Given the description of an element on the screen output the (x, y) to click on. 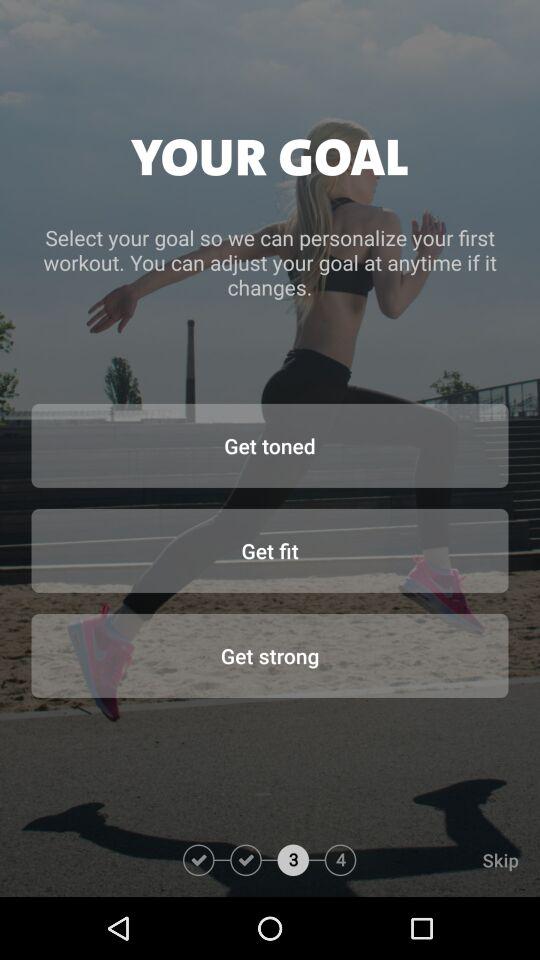
choose icon at the bottom right corner (448, 859)
